Given the description of an element on the screen output the (x, y) to click on. 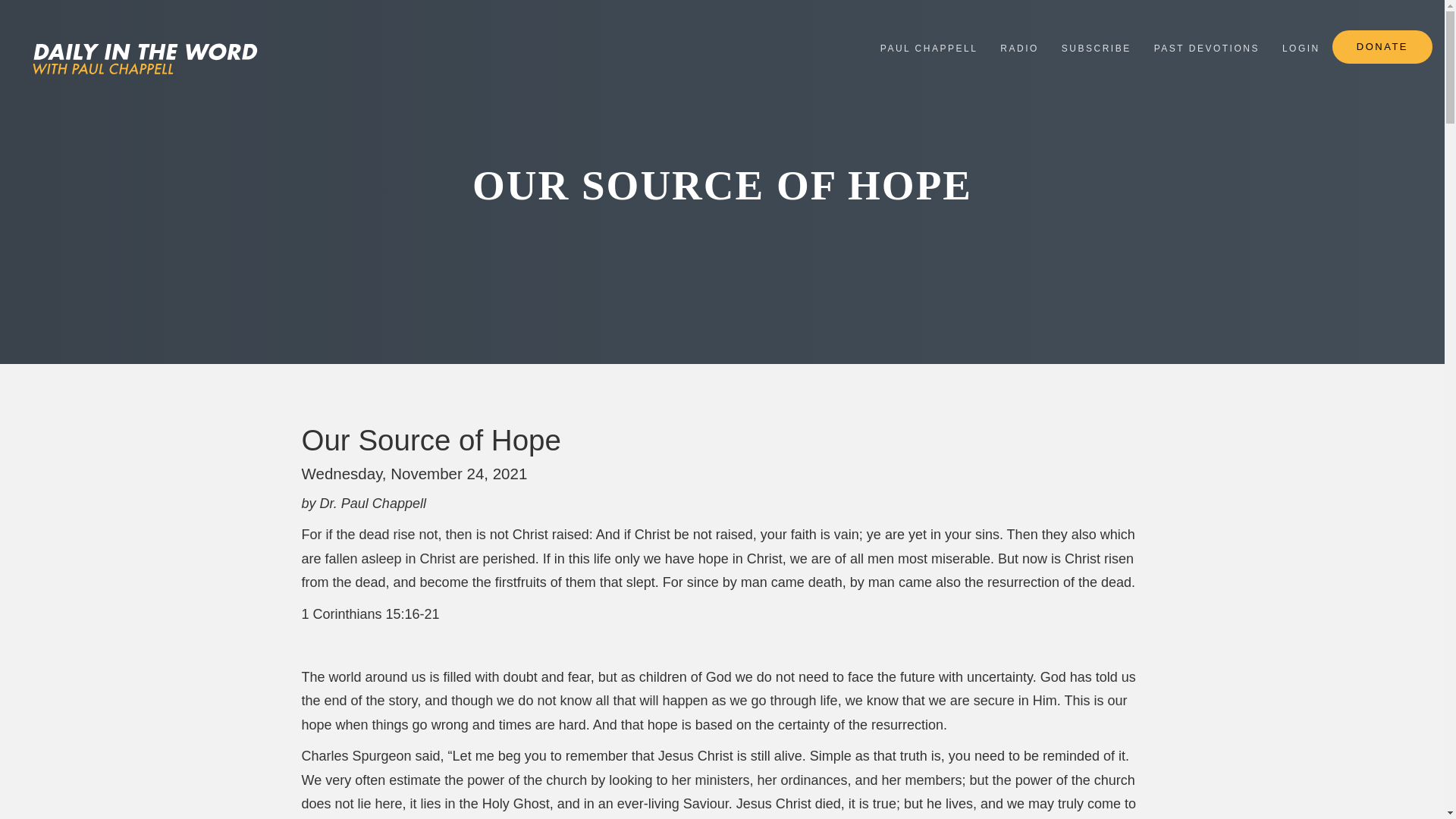
PAUL CHAPPELL (929, 46)
Home (140, 58)
LOGIN (1301, 46)
SUBSCRIBE (1095, 46)
PAST DEVOTIONS (1206, 46)
RADIO (1018, 46)
DONATE (1382, 46)
